Given the description of an element on the screen output the (x, y) to click on. 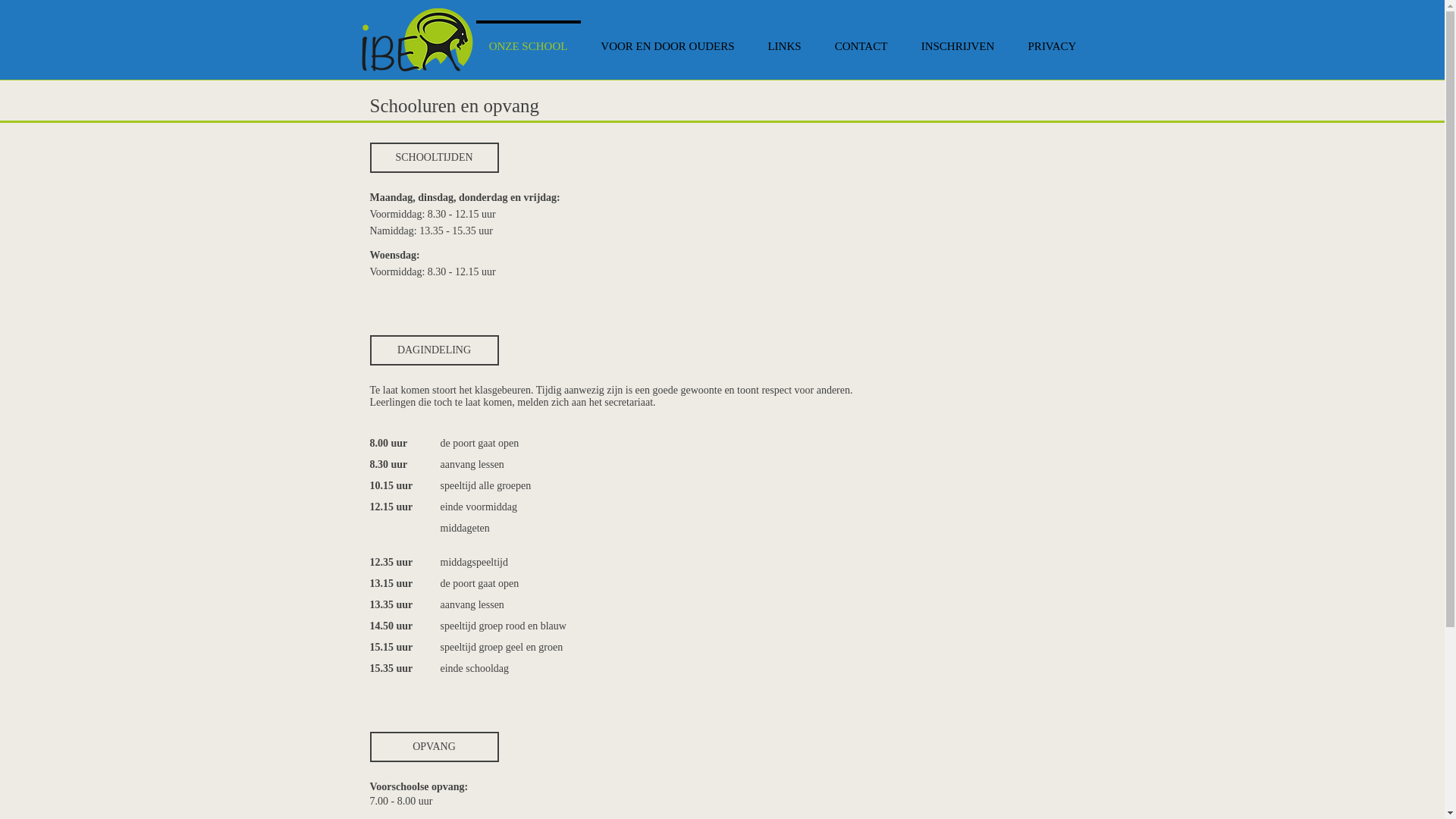
PRIVACY Element type: text (1052, 39)
INSCHRIJVEN Element type: text (956, 39)
VOOR EN DOOR OUDERS Element type: text (666, 39)
CONTACT Element type: text (860, 39)
LINKS Element type: text (783, 39)
ONZE SCHOOL Element type: text (527, 39)
